Given the description of an element on the screen output the (x, y) to click on. 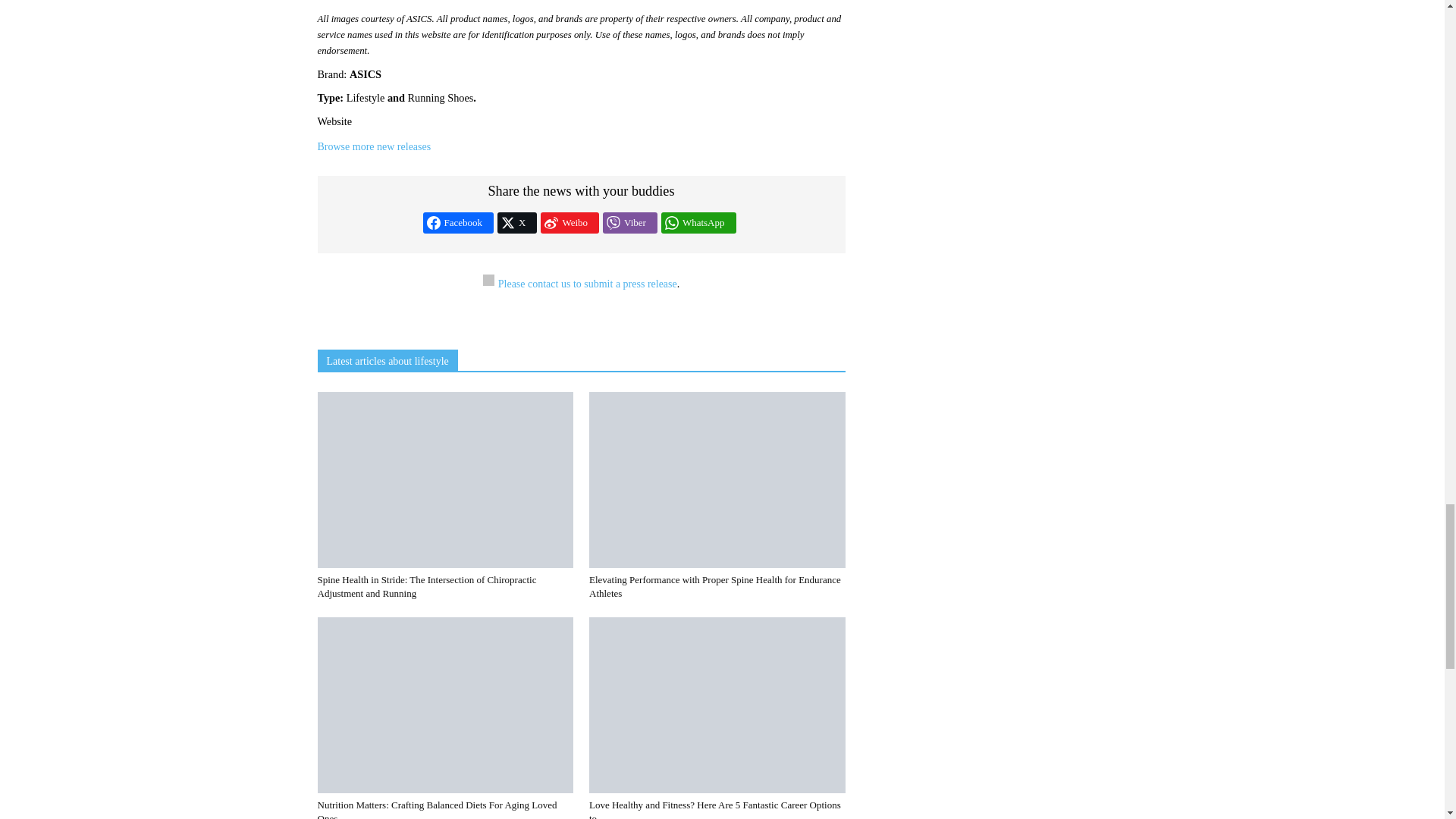
Share on Weibo (569, 222)
Share on Viber (630, 222)
Share on WhatsApp (698, 222)
Share on Facebook (459, 222)
Share on X (517, 222)
